Given the description of an element on the screen output the (x, y) to click on. 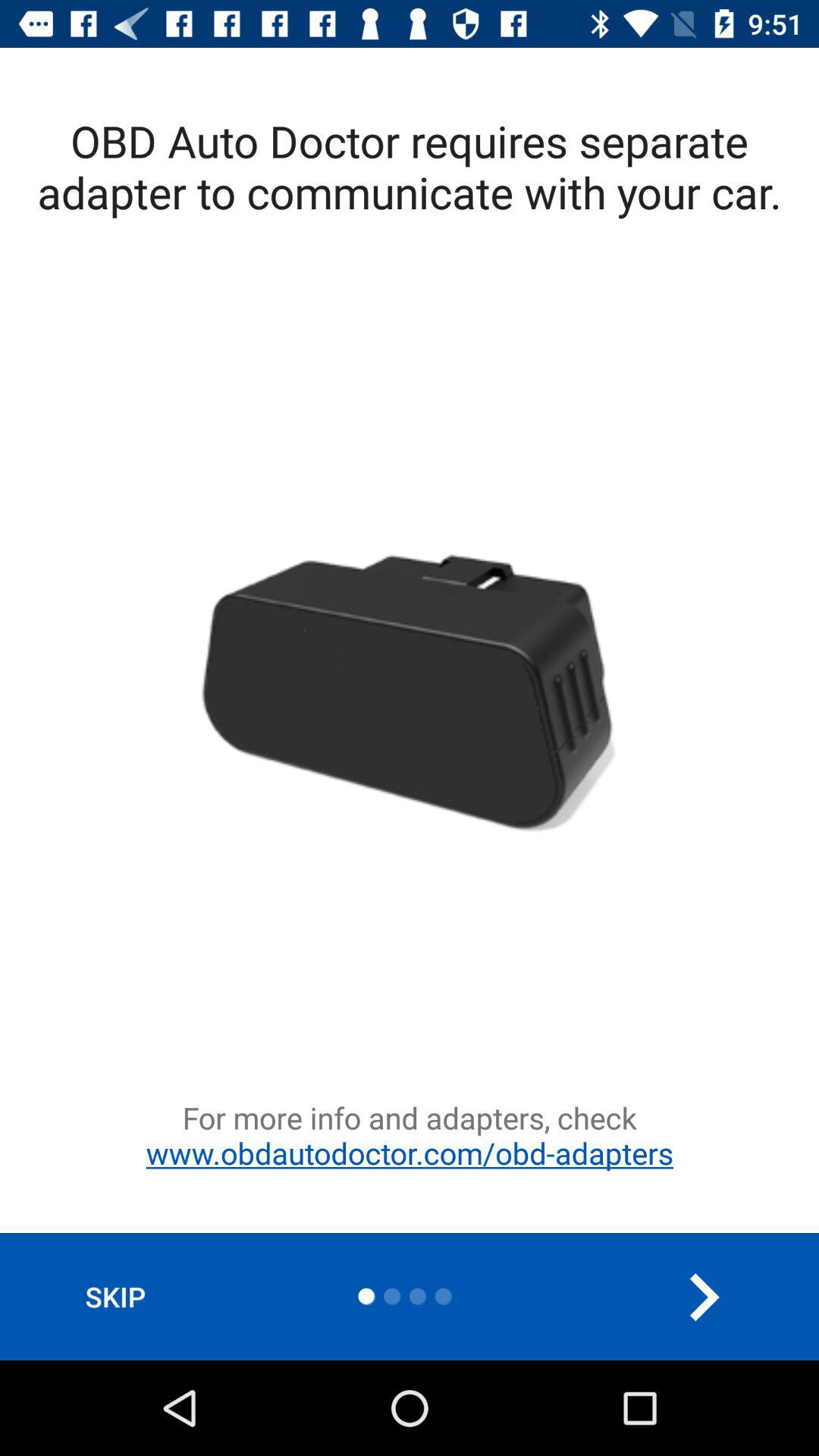
go to next page (703, 1296)
